Given the description of an element on the screen output the (x, y) to click on. 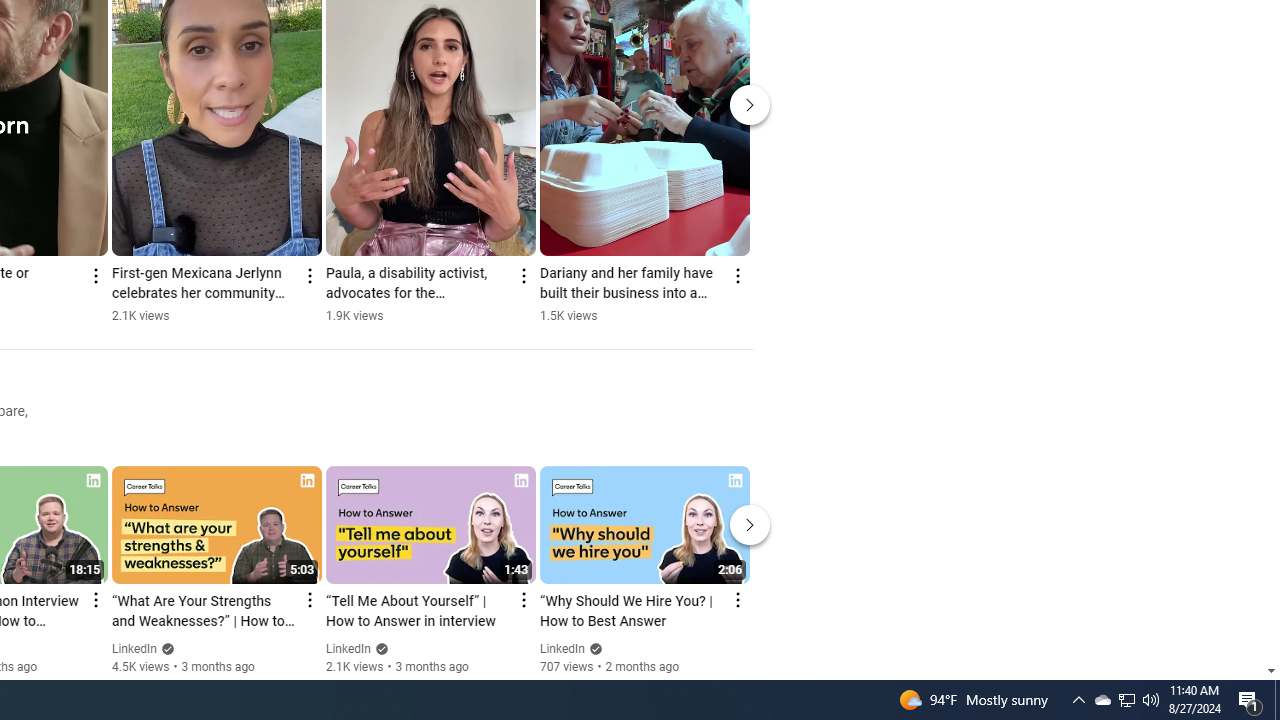
Next (749, 524)
More actions (736, 276)
Verified (592, 647)
LinkedIn (562, 649)
Action menu (736, 600)
